Given the description of an element on the screen output the (x, y) to click on. 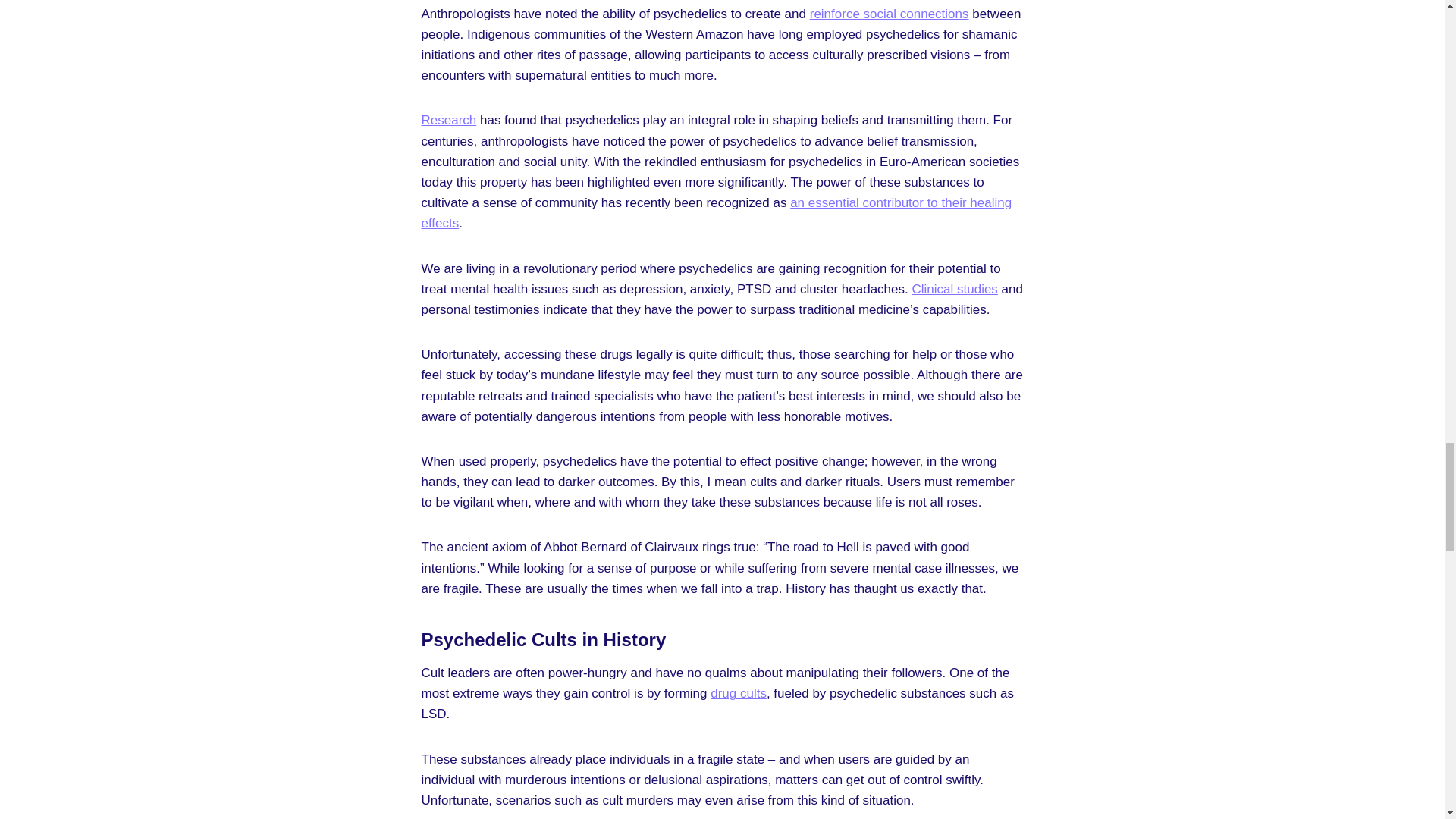
drug cults (738, 693)
reinforce social connections (889, 13)
an essential contributor to their healing effects (716, 212)
Clinical studies (954, 288)
Research (449, 120)
